Given the description of an element on the screen output the (x, y) to click on. 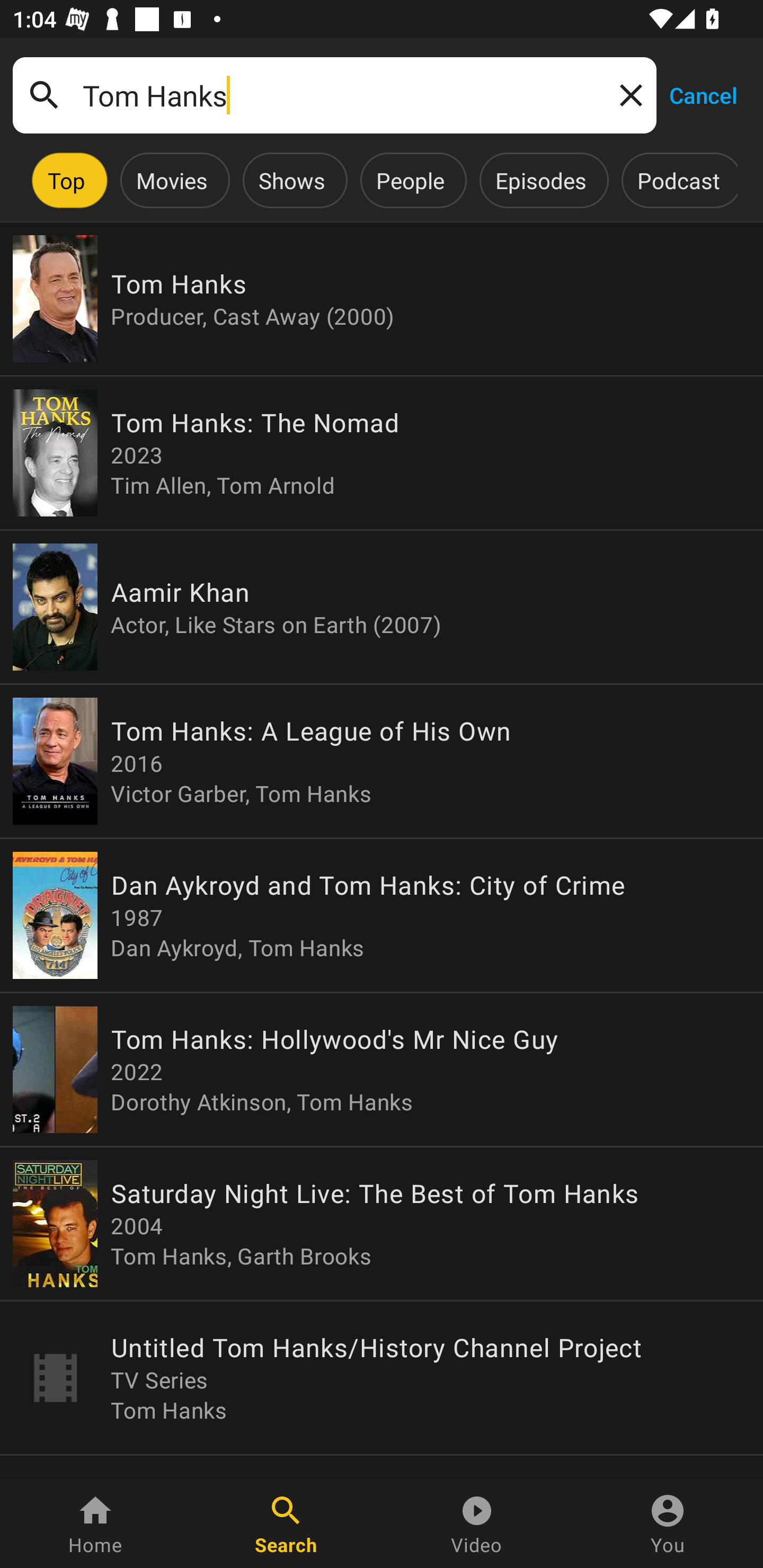
Clear query (627, 94)
Cancel (703, 94)
Tom Hanks (334, 95)
Top (66, 180)
Movies (171, 180)
Shows (291, 180)
People (410, 180)
Episodes (540, 180)
Podcast (678, 180)
Tom Hanks Producer, Cast Away (2000) (381, 298)
Tom Hanks: The Nomad 2023 Tim Allen, Tom Arnold (381, 452)
Aamir Khan Actor, Like Stars on Earth (2007) (381, 607)
Home (95, 1523)
Video (476, 1523)
You (667, 1523)
